Given the description of an element on the screen output the (x, y) to click on. 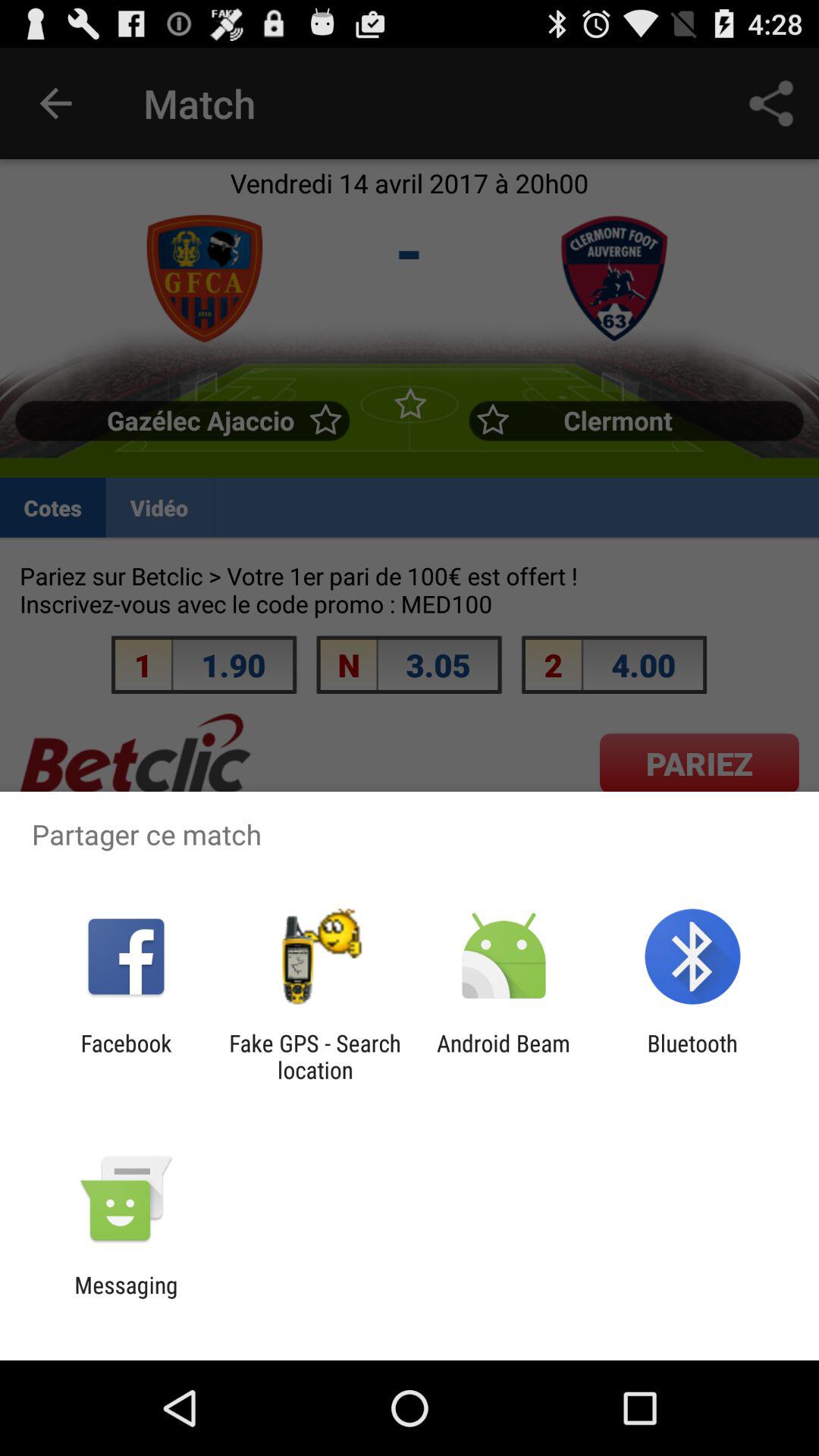
choose app next to facebook icon (314, 1056)
